Given the description of an element on the screen output the (x, y) to click on. 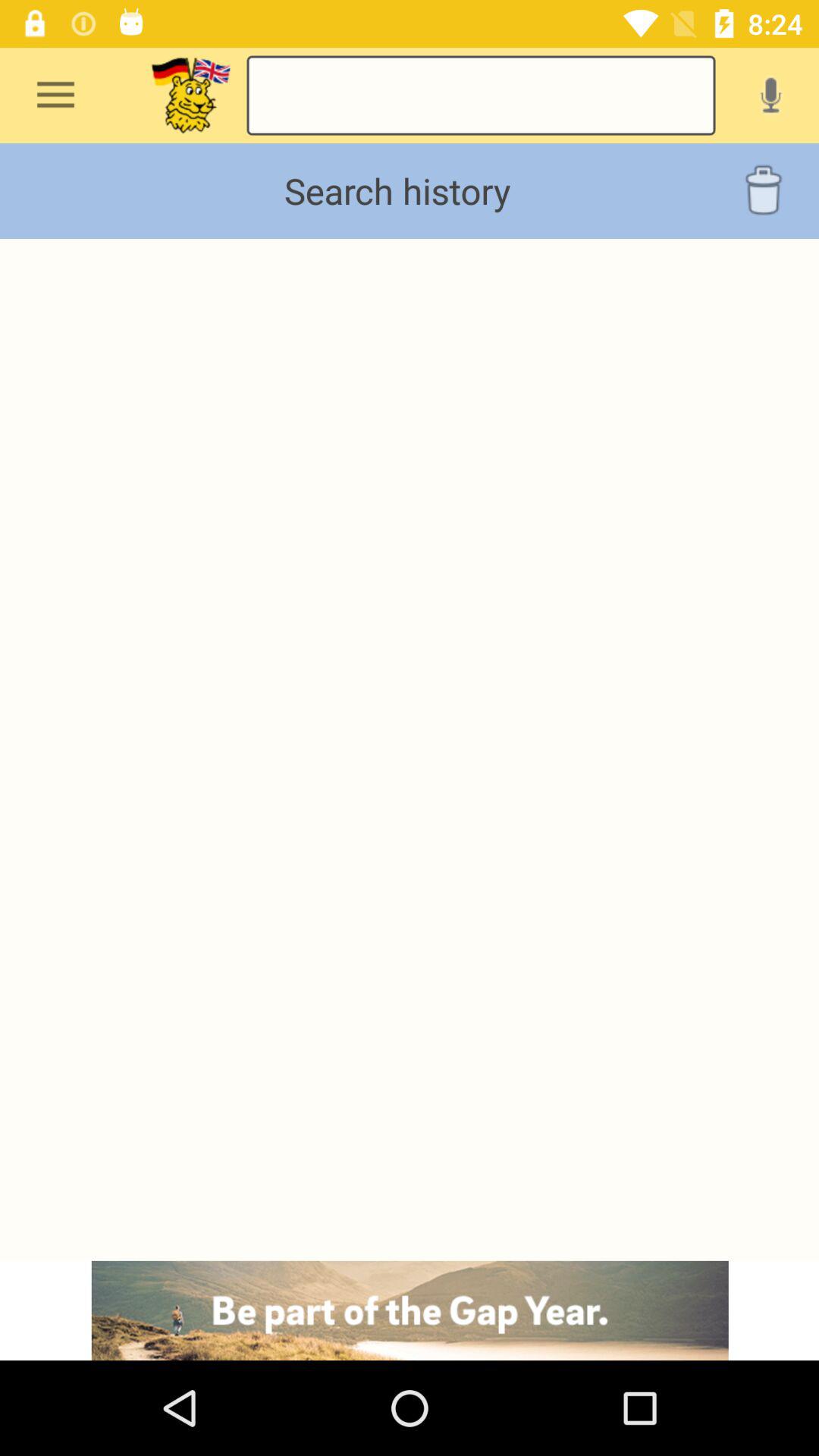
voice message (770, 94)
